Given the description of an element on the screen output the (x, y) to click on. 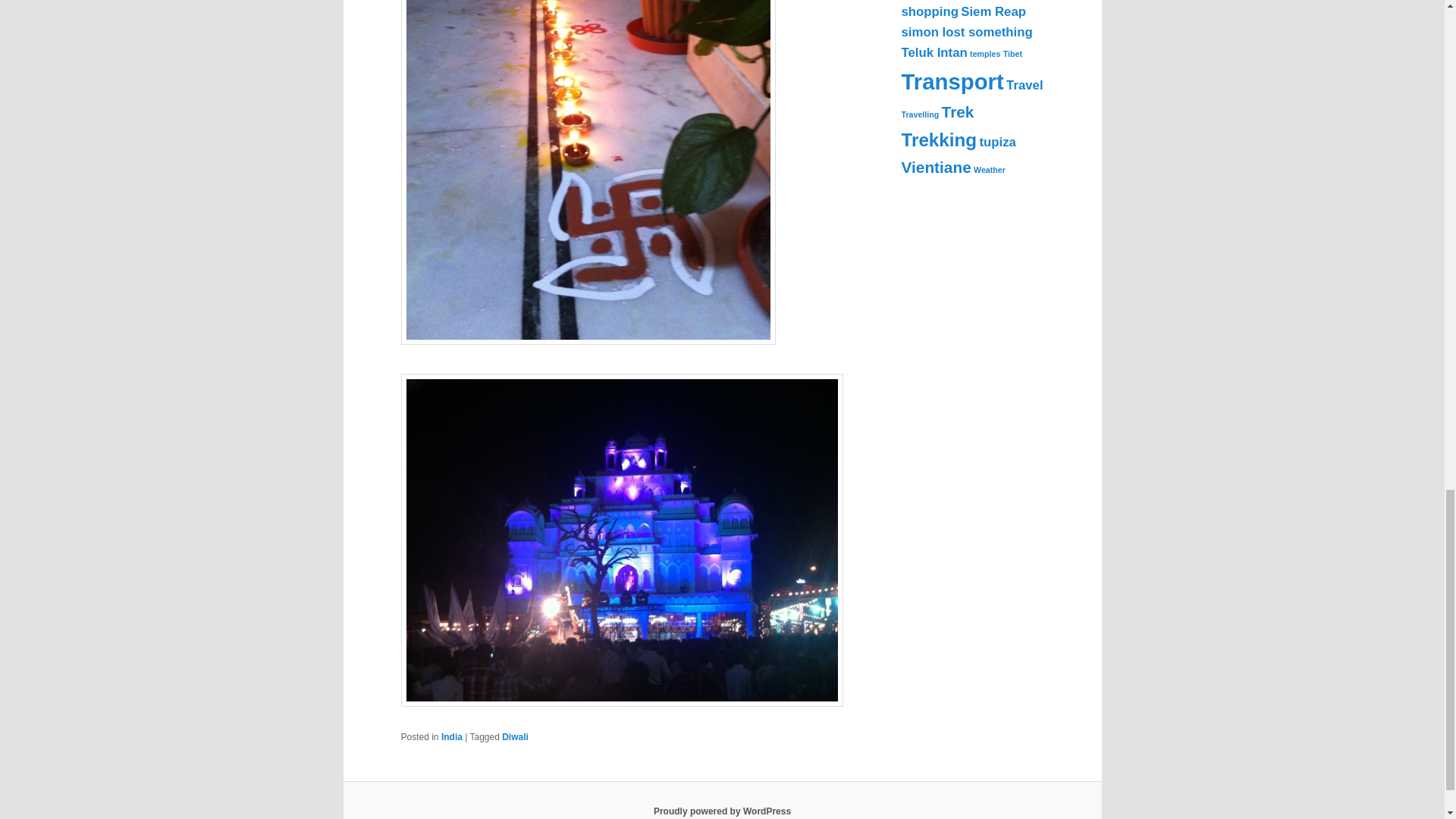
Diwali (515, 737)
Semantic Personal Publishing Platform (721, 810)
India (452, 737)
